Given the description of an element on the screen output the (x, y) to click on. 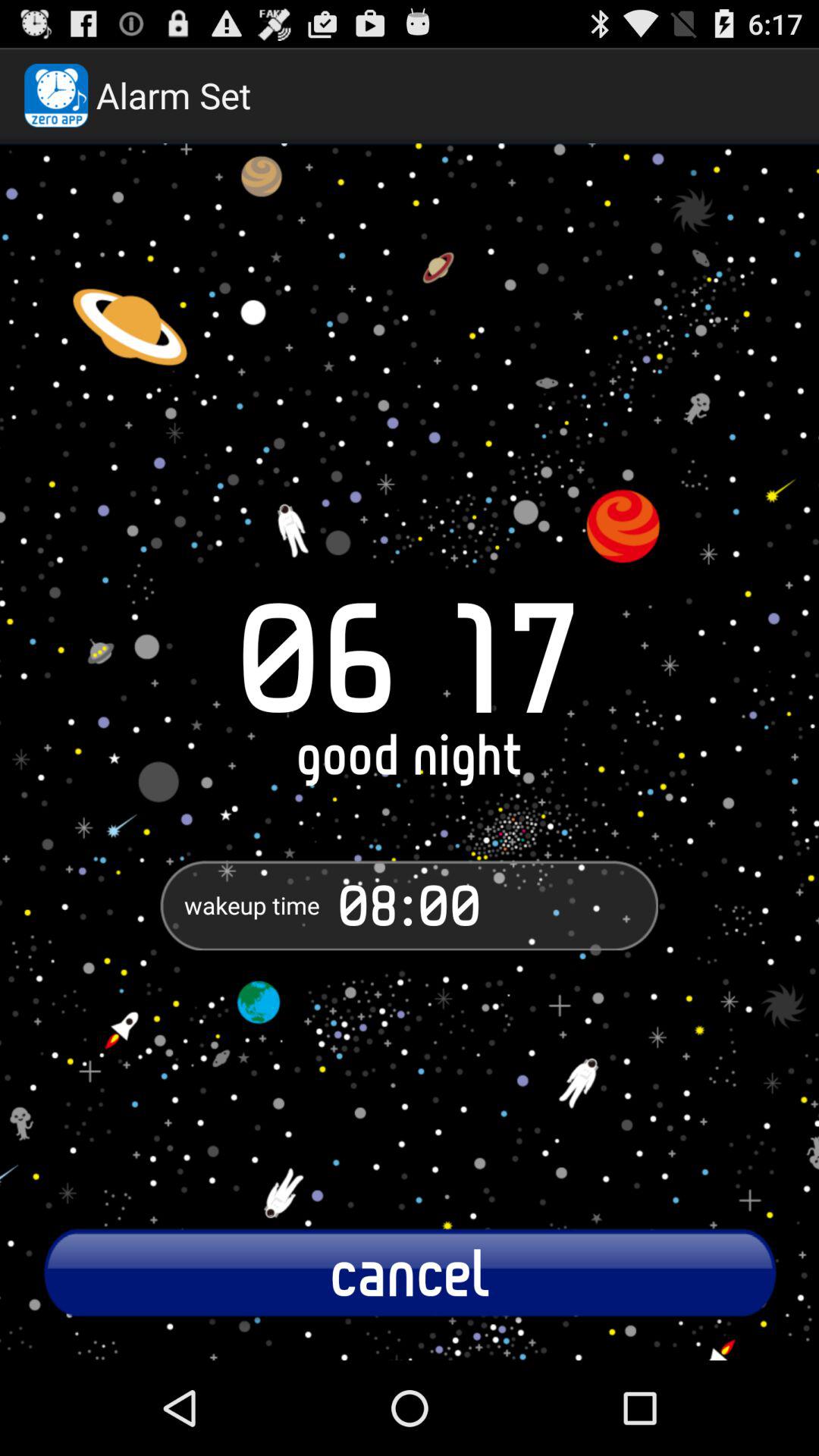
click cancel button (409, 1271)
